Given the description of an element on the screen output the (x, y) to click on. 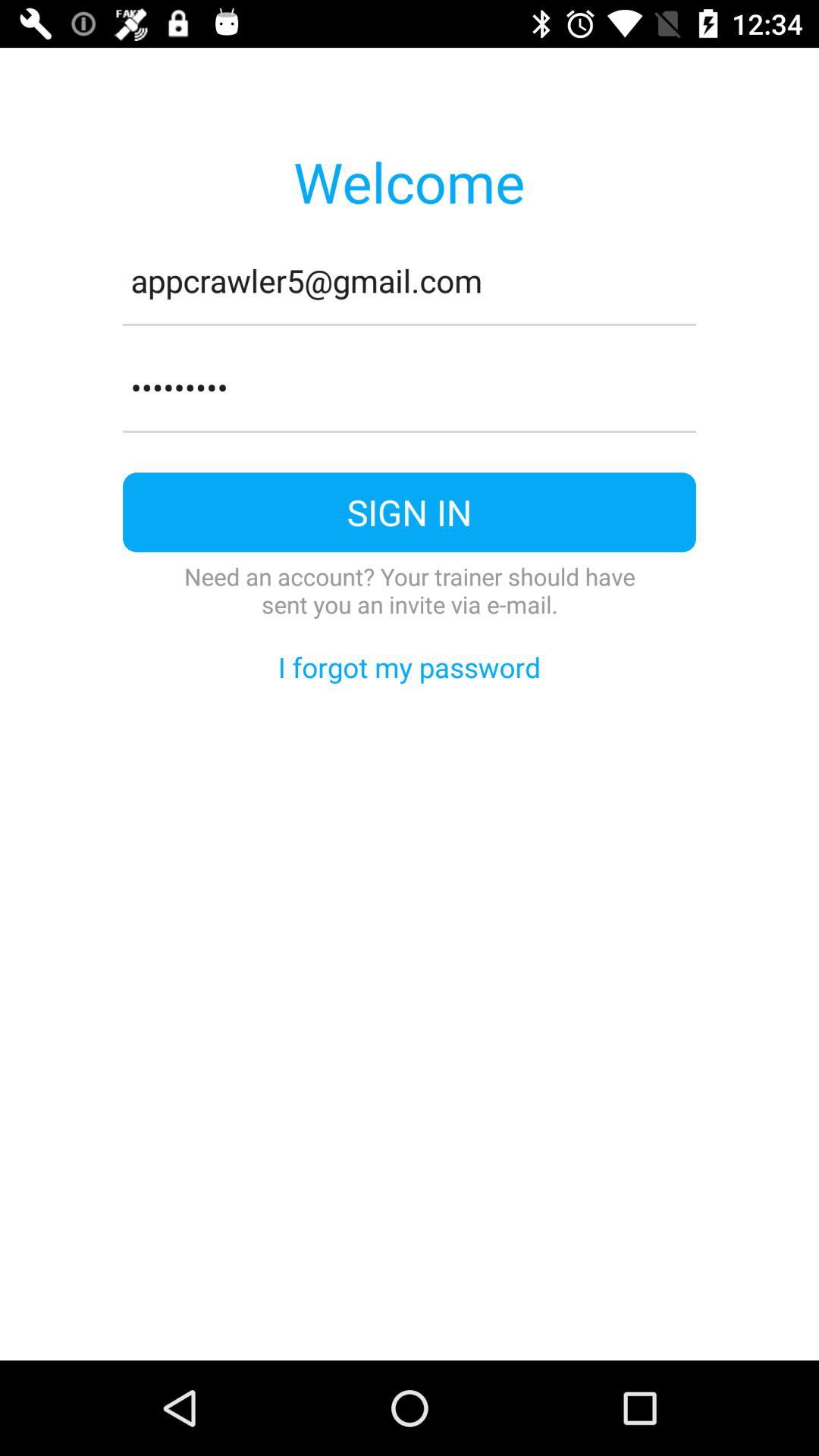
turn off welcome icon (408, 181)
